Given the description of an element on the screen output the (x, y) to click on. 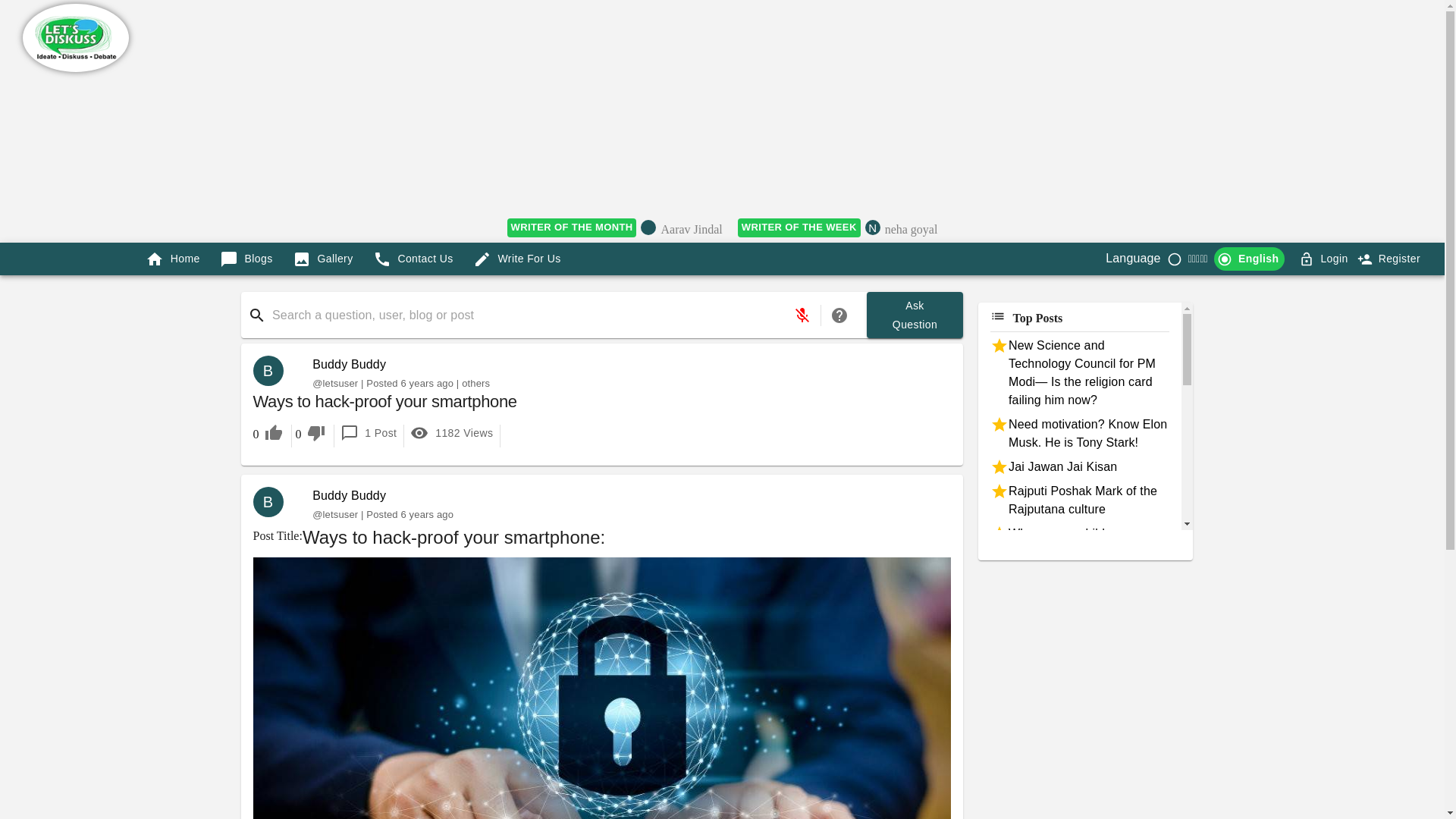
 Gallery (322, 258)
Rajputi Poshak Mark of the Rajputana culture (1079, 500)
Login (1324, 258)
Why are our children condemned to be labourers too? (1079, 551)
Login (1334, 258)
Aarav Jindal (691, 231)
WRITER OF THE MONTH (571, 227)
B (274, 501)
WRITER OF THE WEEK (799, 227)
Register (1390, 258)
neha goyal (914, 314)
Buddy Buddy (911, 231)
Jai Jawan Jai Kisan (349, 364)
English (1079, 466)
